Given the description of an element on the screen output the (x, y) to click on. 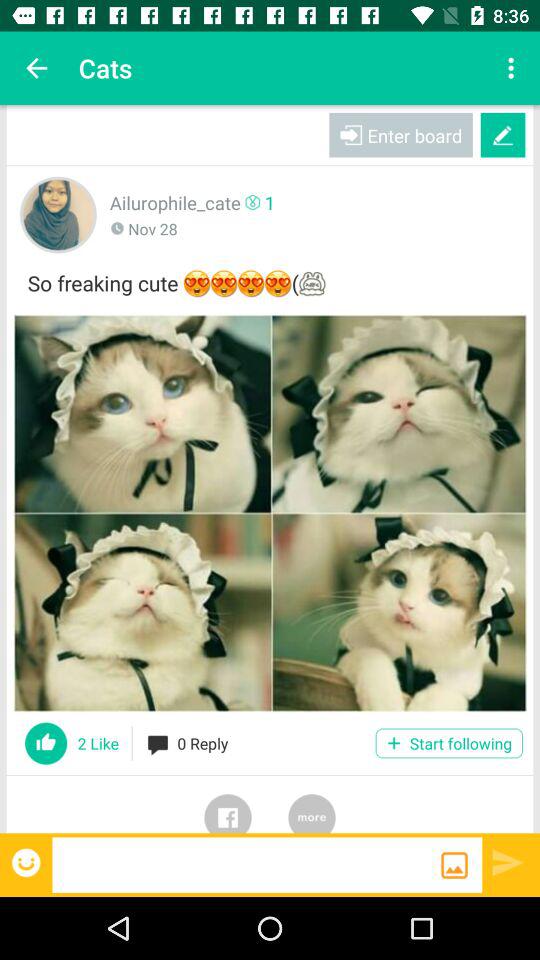
it is the send button (508, 862)
